Given the description of an element on the screen output the (x, y) to click on. 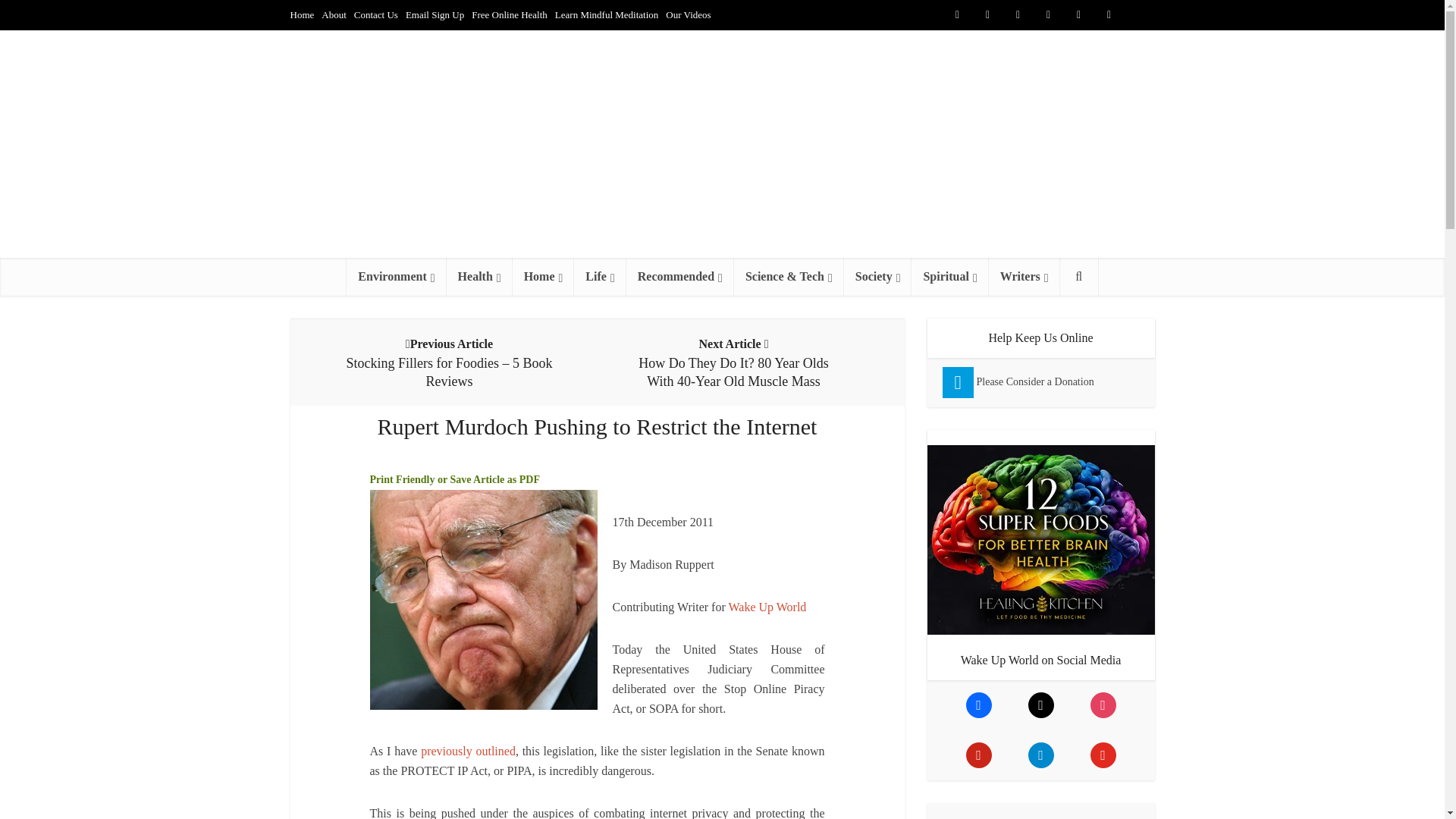
Rupert Murdoch Pushing to Restrict the Internet (767, 606)
Articles recommended by WuW (679, 276)
Home (301, 14)
Learn Mindful Meditation (606, 14)
Email Sign Up (435, 14)
Our Videos (687, 14)
Telegram (1139, 15)
Contact Us (375, 14)
rupertmurdoch (482, 599)
